Given the description of an element on the screen output the (x, y) to click on. 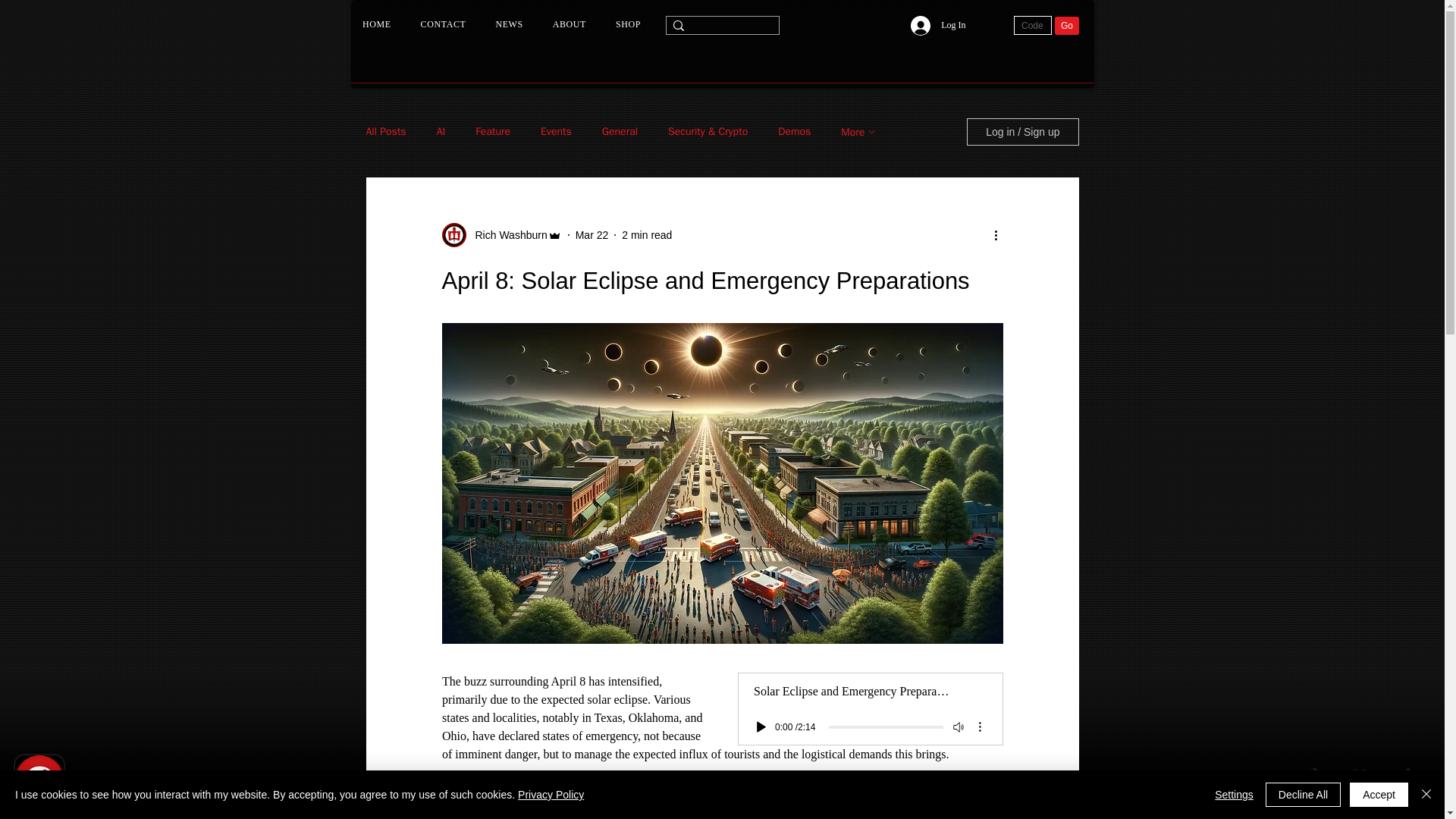
2 min read (646, 234)
Rich Washburn (500, 234)
All Posts (385, 131)
ABOUT (568, 24)
General (619, 131)
CONTACT (443, 24)
0 (885, 726)
Log In (937, 24)
NEWS (508, 24)
Demos (793, 131)
Wix Chat (35, 783)
HOME (376, 24)
Mar 22 (591, 234)
Feature (493, 131)
Rich Washburn (506, 235)
